Given the description of an element on the screen output the (x, y) to click on. 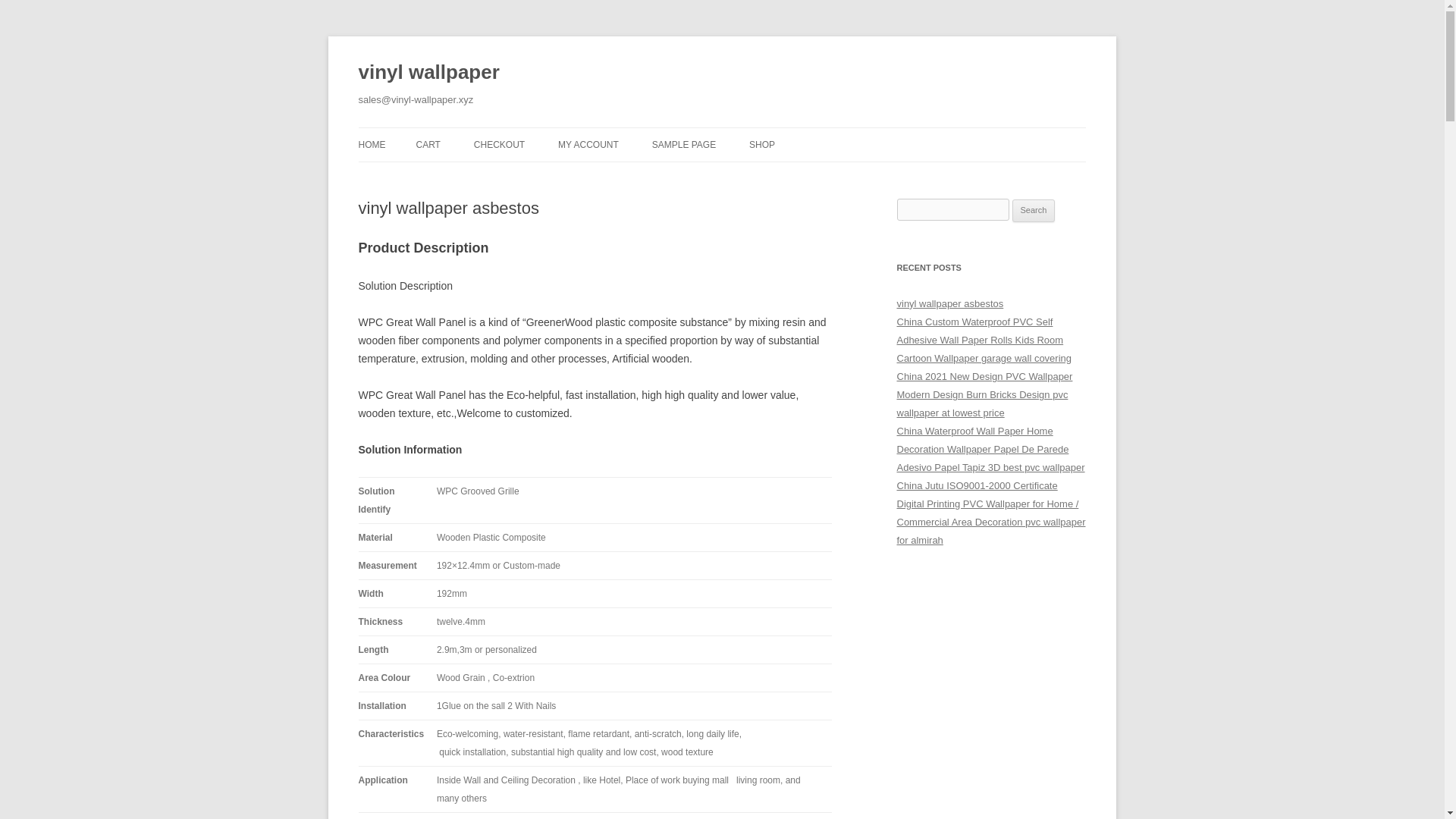
vinyl wallpaper asbestos (949, 303)
vinyl wallpaper (428, 72)
Search (1033, 210)
CHECKOUT (499, 144)
MY ACCOUNT (587, 144)
SAMPLE PAGE (684, 144)
